Given the description of an element on the screen output the (x, y) to click on. 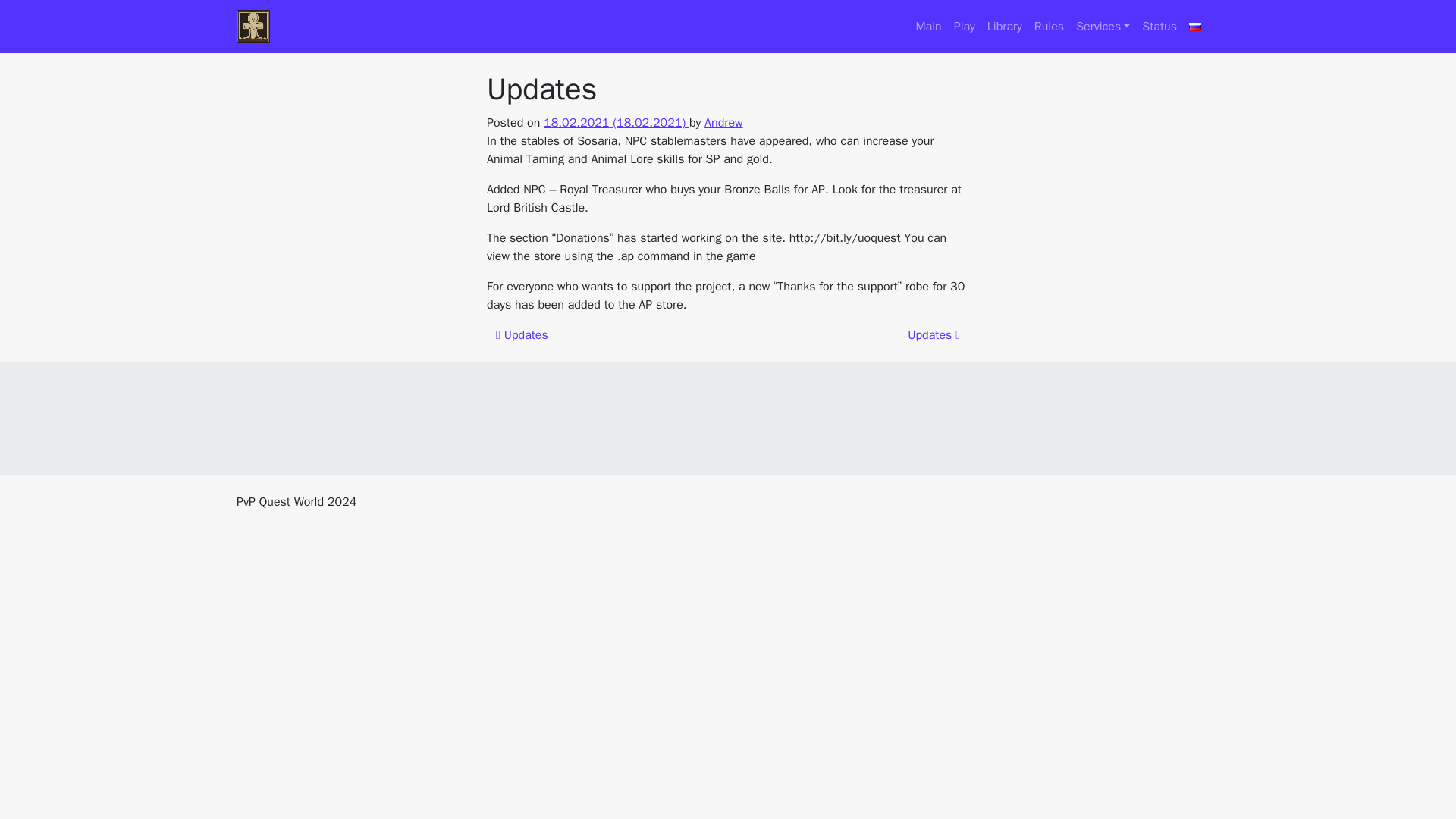
Services (1102, 26)
Rules (1048, 26)
 Updates (522, 335)
Andrew (723, 122)
Library (1004, 26)
Main (928, 26)
Rules (1048, 26)
Play (964, 26)
Updates  (933, 335)
Main (928, 26)
